Given the description of an element on the screen output the (x, y) to click on. 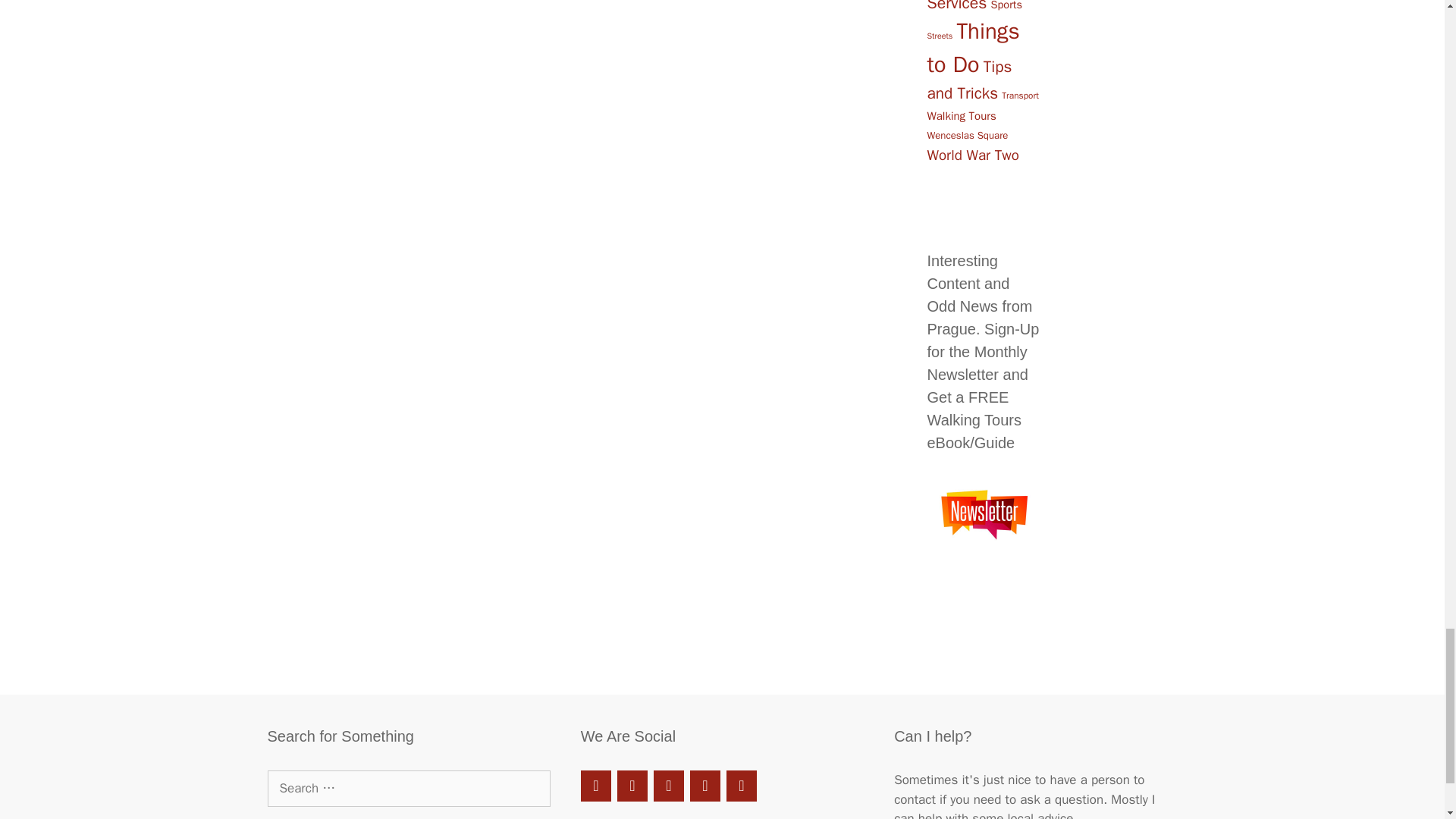
YouTube (705, 785)
Pinterest (668, 785)
Facebook (595, 785)
Trip Advisor (632, 785)
Instagram (741, 785)
Search for: (408, 788)
